Given the description of an element on the screen output the (x, y) to click on. 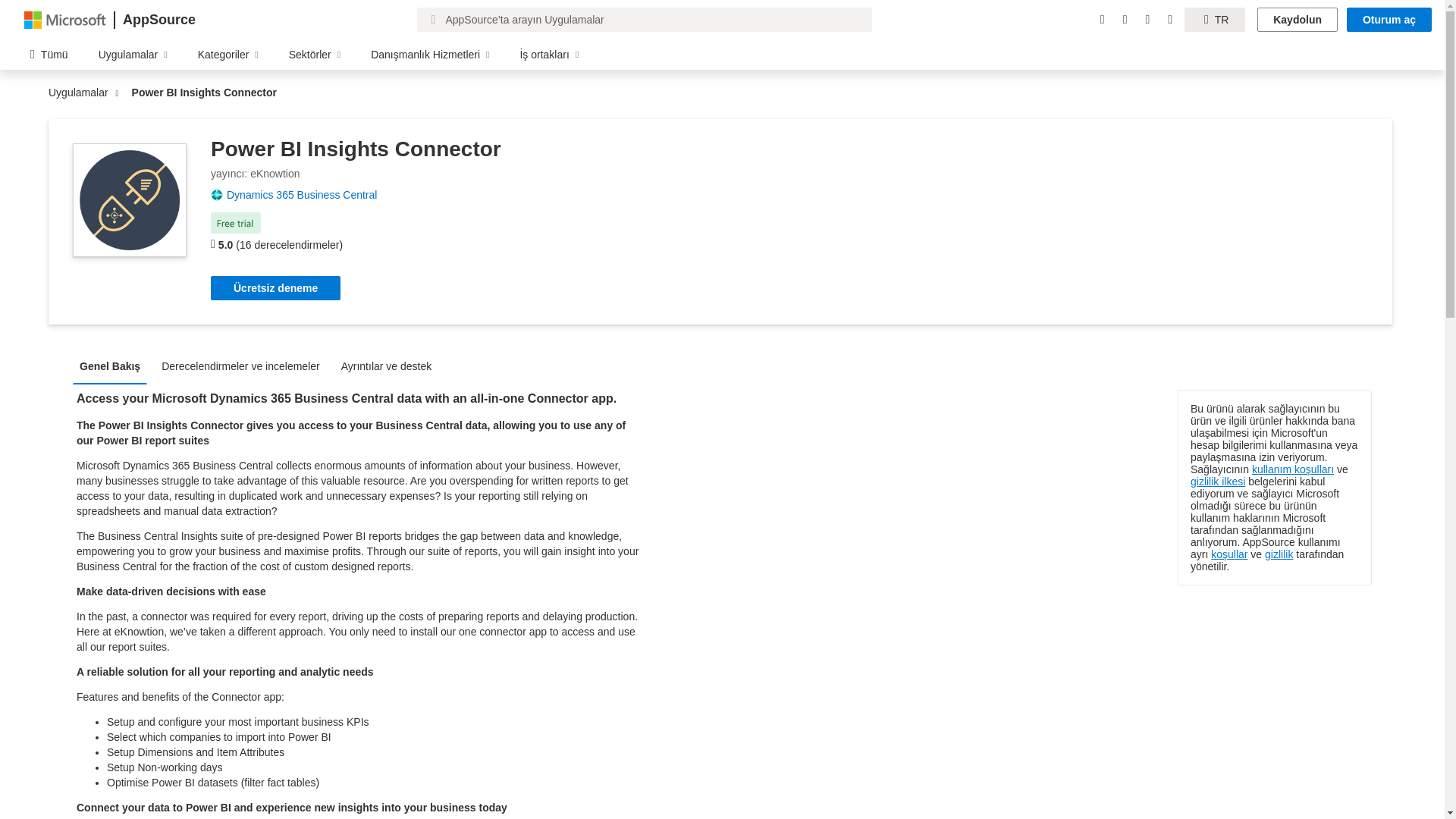
Dynamics 365 Business Central (307, 194)
gizlilik (1278, 553)
AppSource (158, 19)
Kaydolun (1297, 19)
Derecelendirmeler ve incelemeler (244, 365)
derecelendirmeler (213, 243)
gizlilik ilkesi (1217, 481)
Microsoft (65, 18)
Dynamics 365 Business Central (307, 194)
Uygulamalar (82, 92)
